Given the description of an element on the screen output the (x, y) to click on. 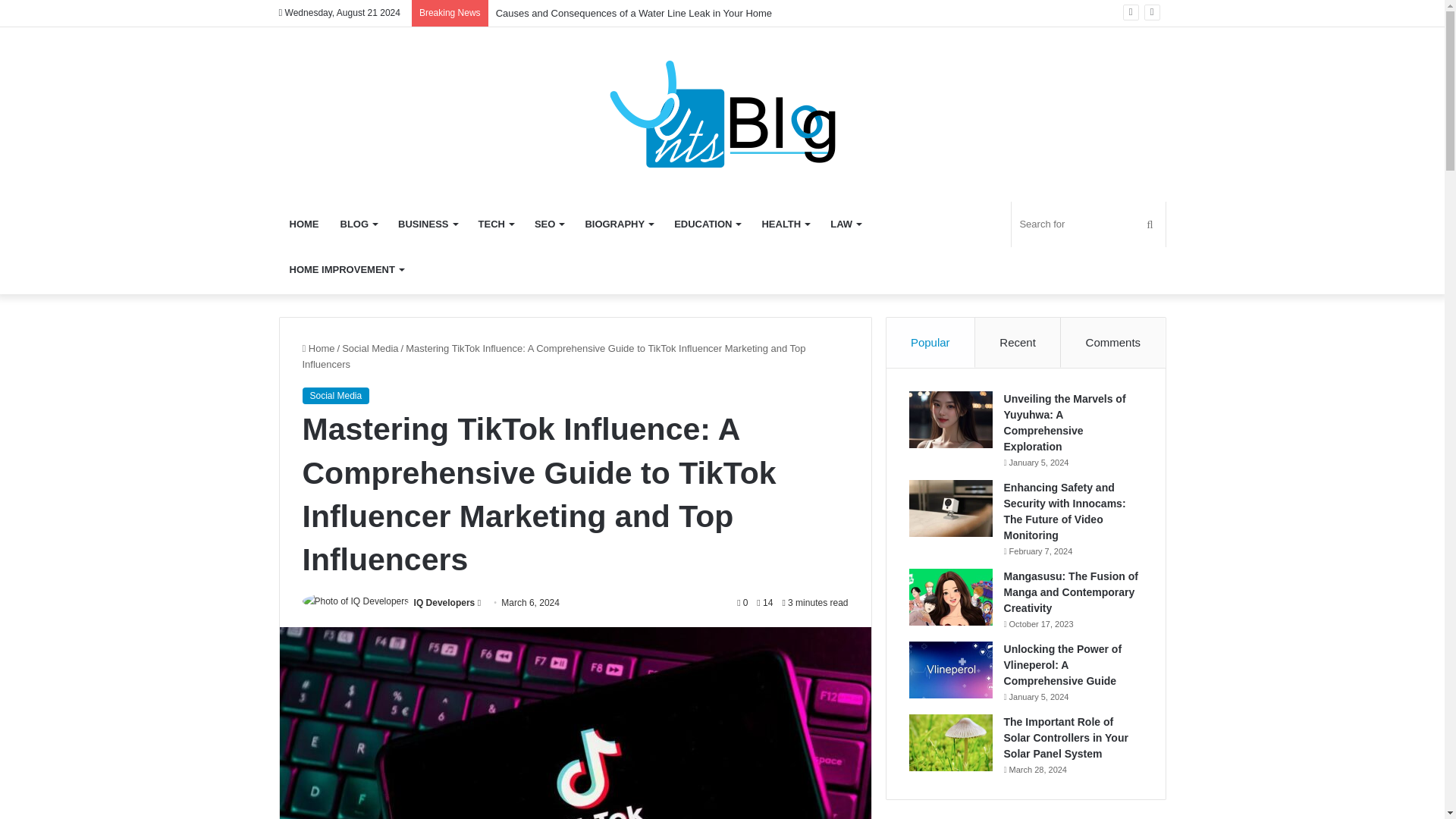
SEO (548, 224)
HOME (304, 224)
Your Vents, Your Comfort, Our Priority. (721, 114)
Social Media (369, 348)
LAW (844, 224)
IQ Developers (444, 602)
TECH (495, 224)
Search for (1087, 224)
BIOGRAPHY (618, 224)
EDUCATION (707, 224)
